Given the description of an element on the screen output the (x, y) to click on. 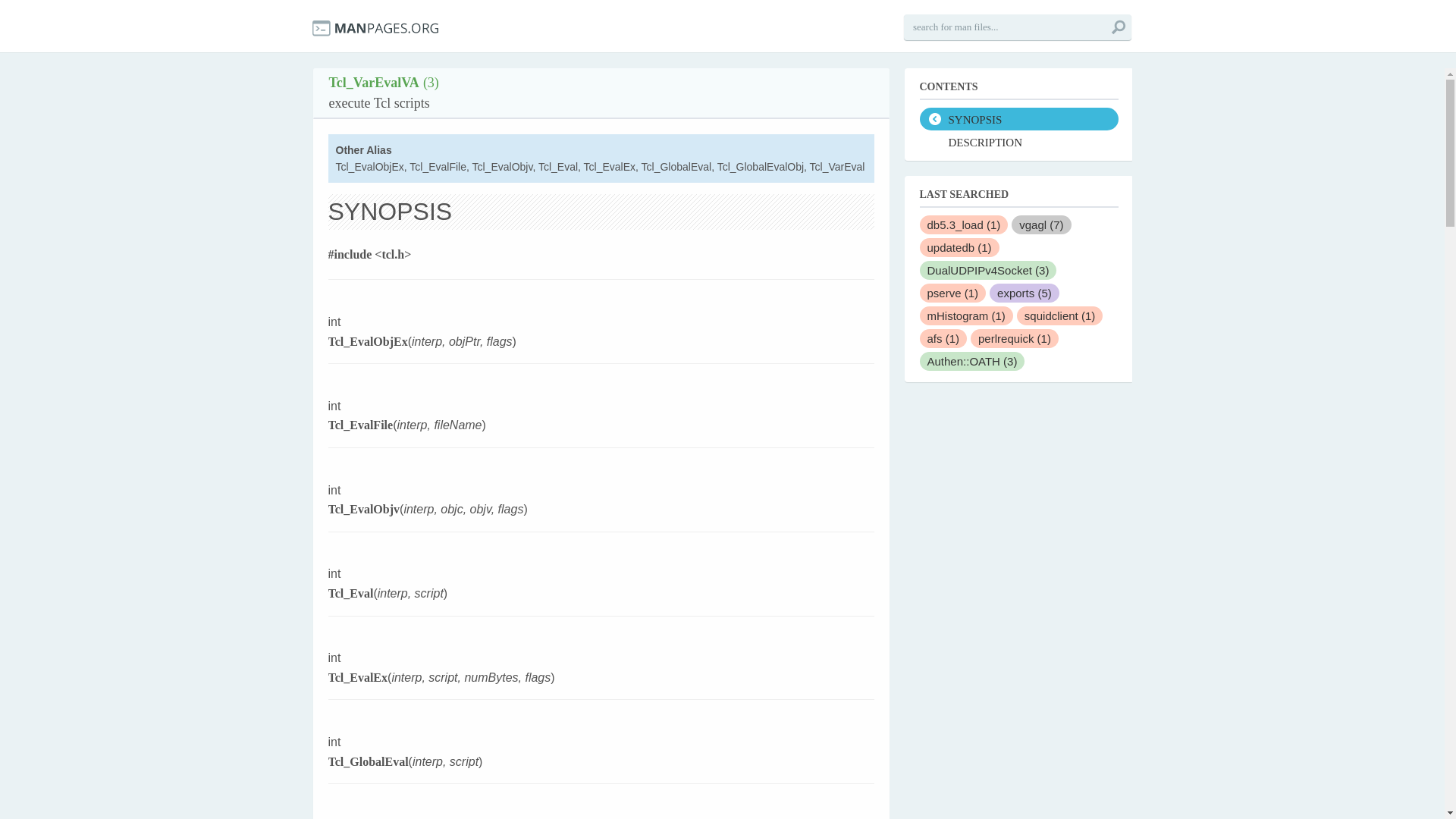
description (1018, 141)
synopsis (1018, 118)
SYNOPSIS (1018, 118)
DESCRIPTION (1018, 141)
